Given the description of an element on the screen output the (x, y) to click on. 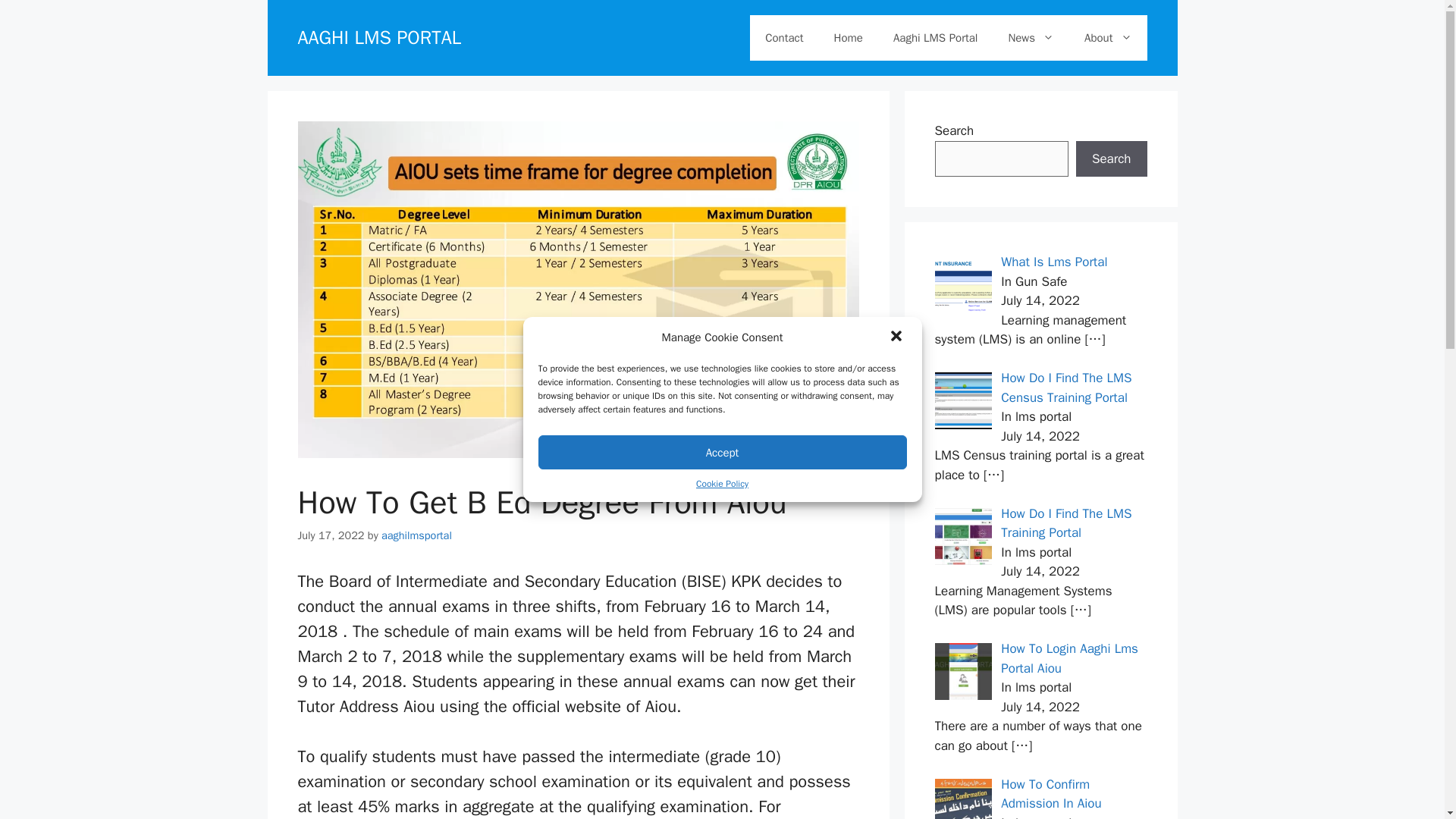
Aaghi LMS Portal (934, 37)
How To Login Aaghi Lms Portal Aiou (1069, 658)
How Do I Find The LMS Training Portal (1066, 522)
How Do I Find The LMS Census Training Portal (1066, 387)
Cookie Policy (721, 483)
View all posts by aaghilmsportal (416, 535)
Home (847, 37)
How To Confirm Admission In Aiou (1050, 794)
What Is Lms Portal (1053, 261)
aaghilmsportal (416, 535)
About (1107, 37)
Contact (783, 37)
Accept (722, 451)
Search (1111, 158)
News (1030, 37)
